Given the description of an element on the screen output the (x, y) to click on. 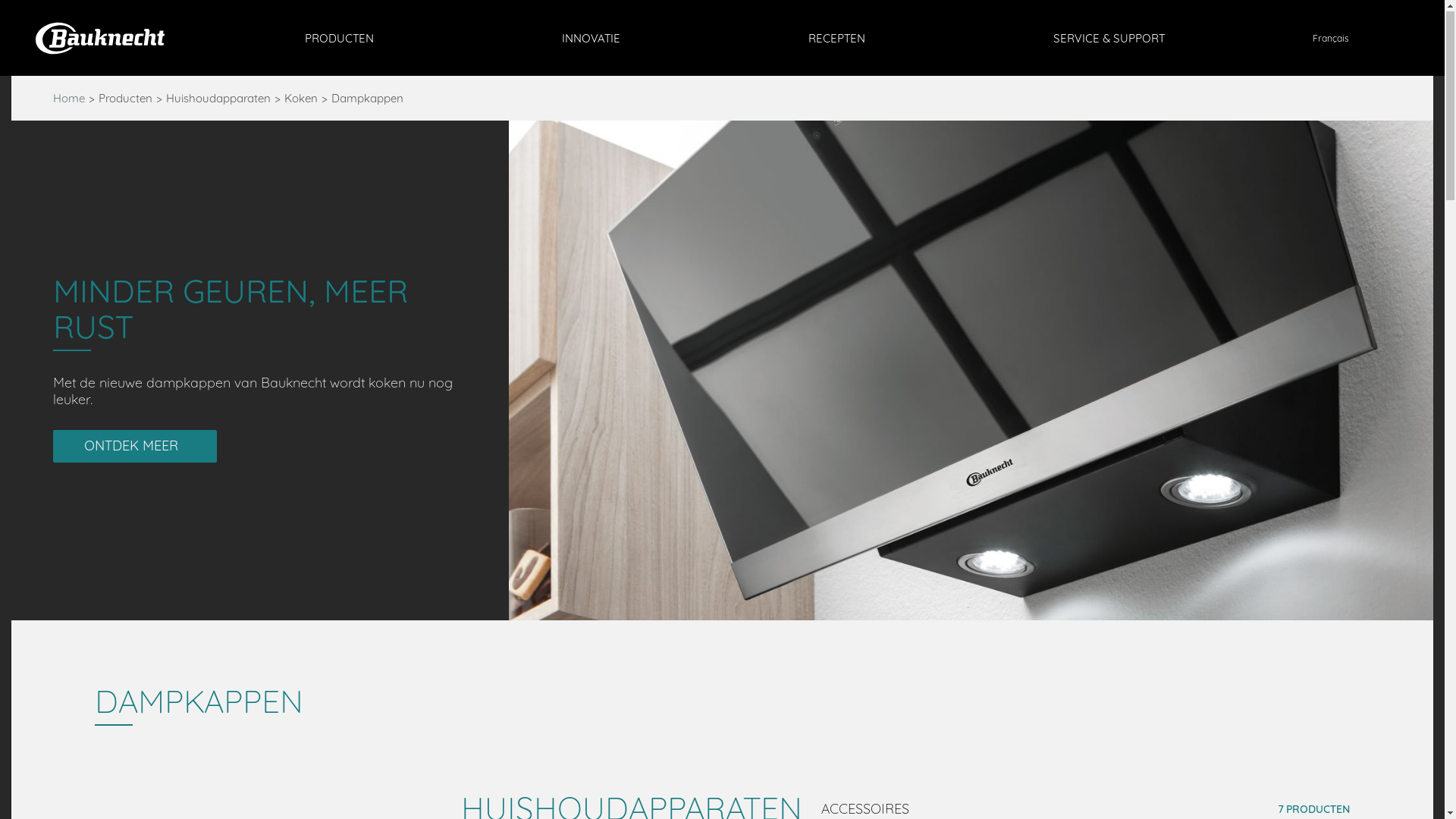
PRODUCTEN Element type: text (339, 38)
Home Element type: text (68, 98)
ACCESSOIRES Element type: text (873, 808)
SERVICE & SUPPORT Element type: text (1108, 38)
ONTDEK MEER Element type: text (134, 446)
INNOVATIE Element type: text (590, 38)
RECEPTEN Element type: text (836, 38)
